Given the description of an element on the screen output the (x, y) to click on. 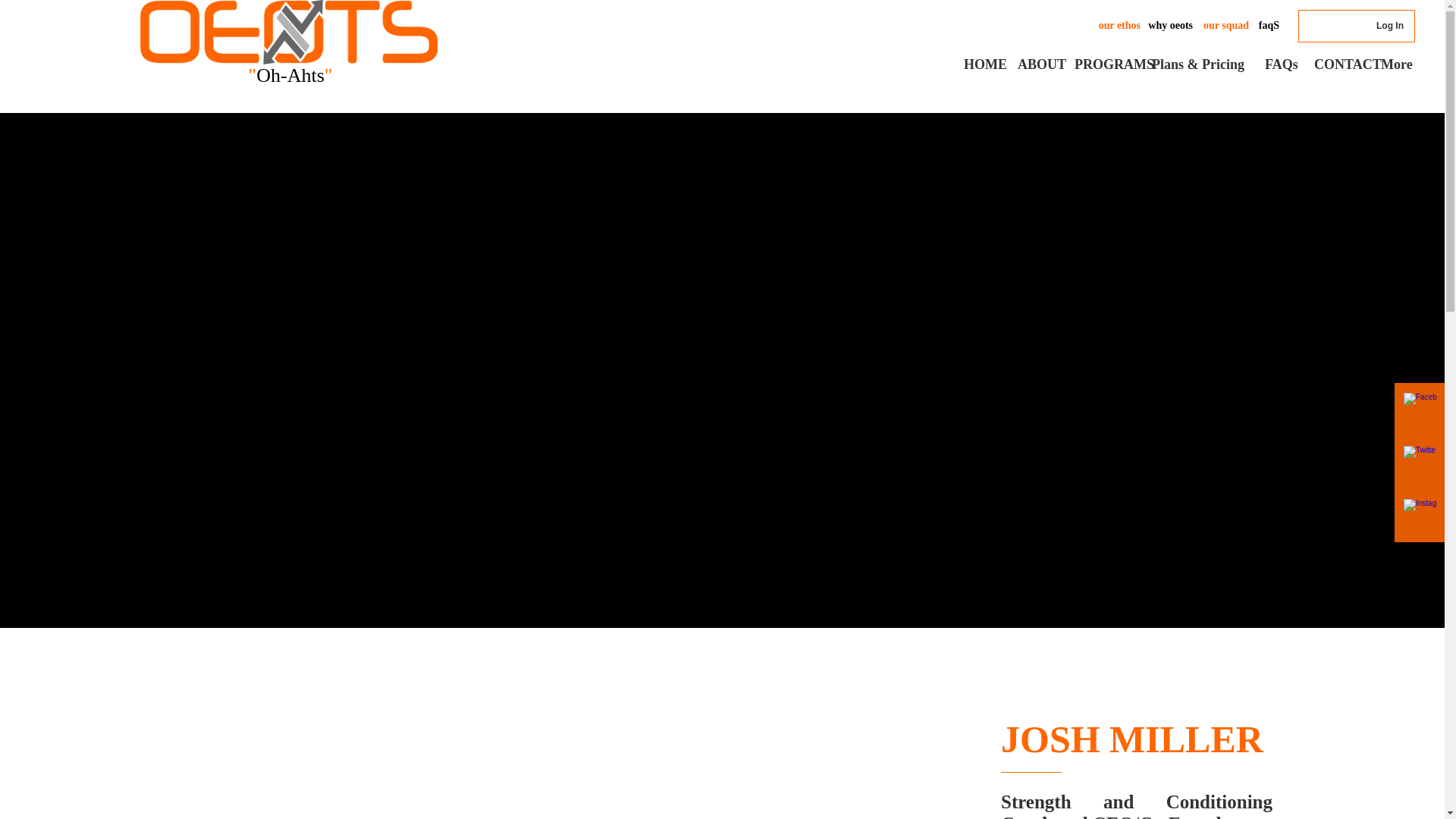
CONTACT (1336, 64)
HOME (979, 64)
faqS (1269, 25)
why oeots (1170, 25)
FAQs (1278, 64)
our squad (1226, 25)
Log In (1389, 25)
our ethos (1119, 25)
